Given the description of an element on the screen output the (x, y) to click on. 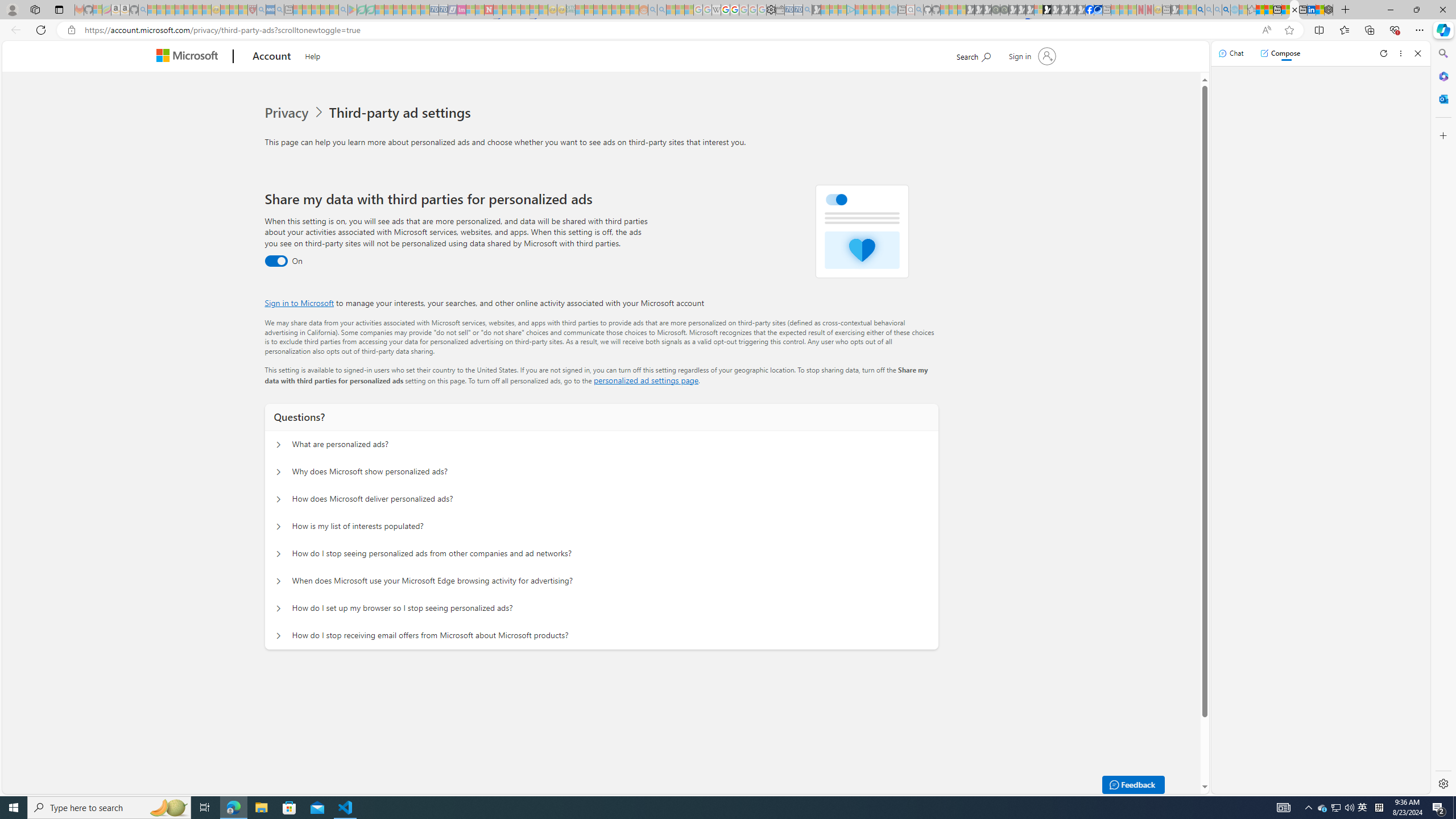
Third-party ad settings (402, 112)
Questions? How is my list of interests populated? (278, 526)
Questions? What are personalized ads? (278, 444)
